Given the description of an element on the screen output the (x, y) to click on. 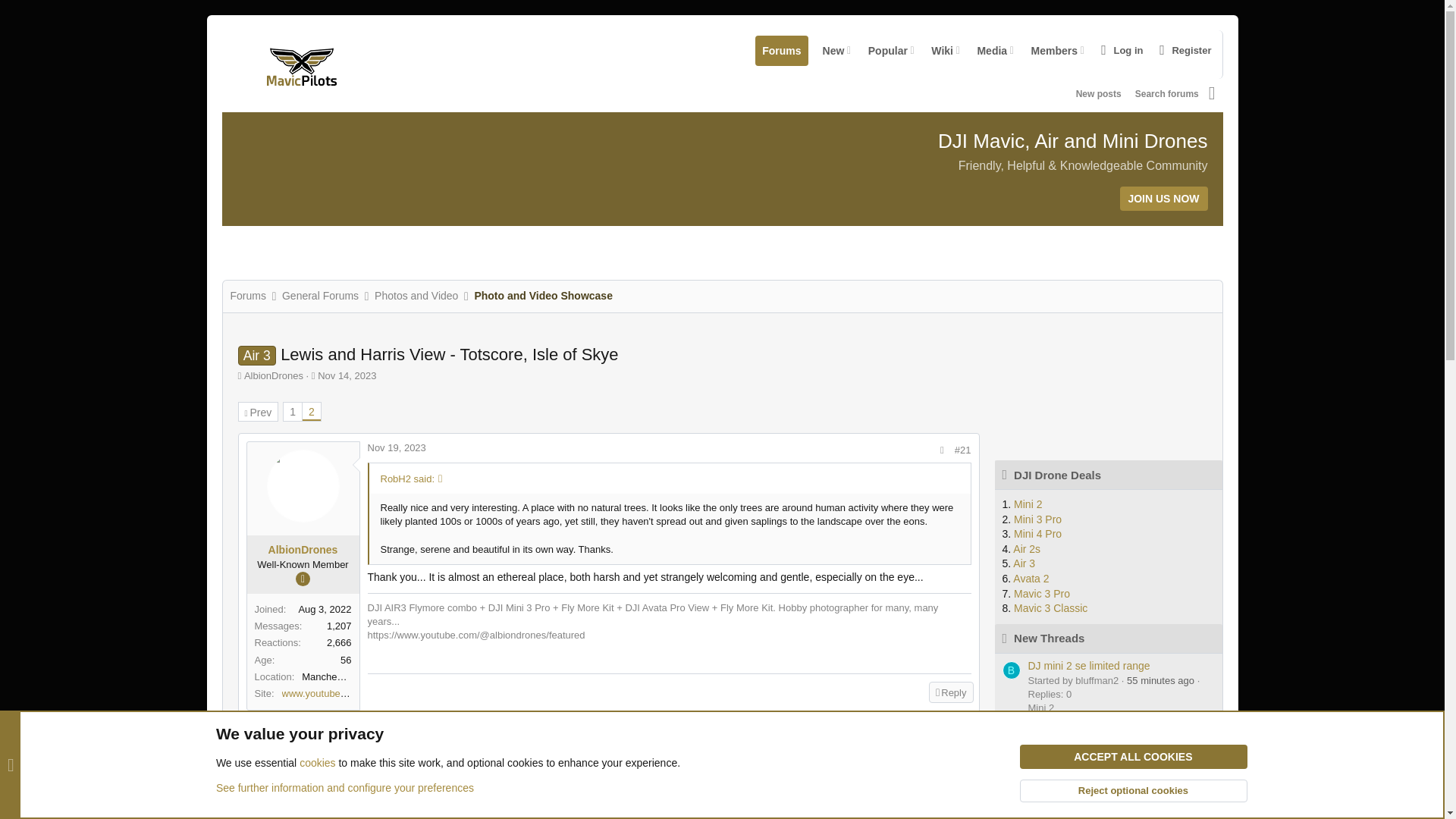
Members (1051, 50)
Media (989, 50)
Wiki (920, 54)
Forums (938, 50)
Register (780, 50)
Popular (1182, 50)
Manchester, UK (920, 50)
New (884, 50)
